Given the description of an element on the screen output the (x, y) to click on. 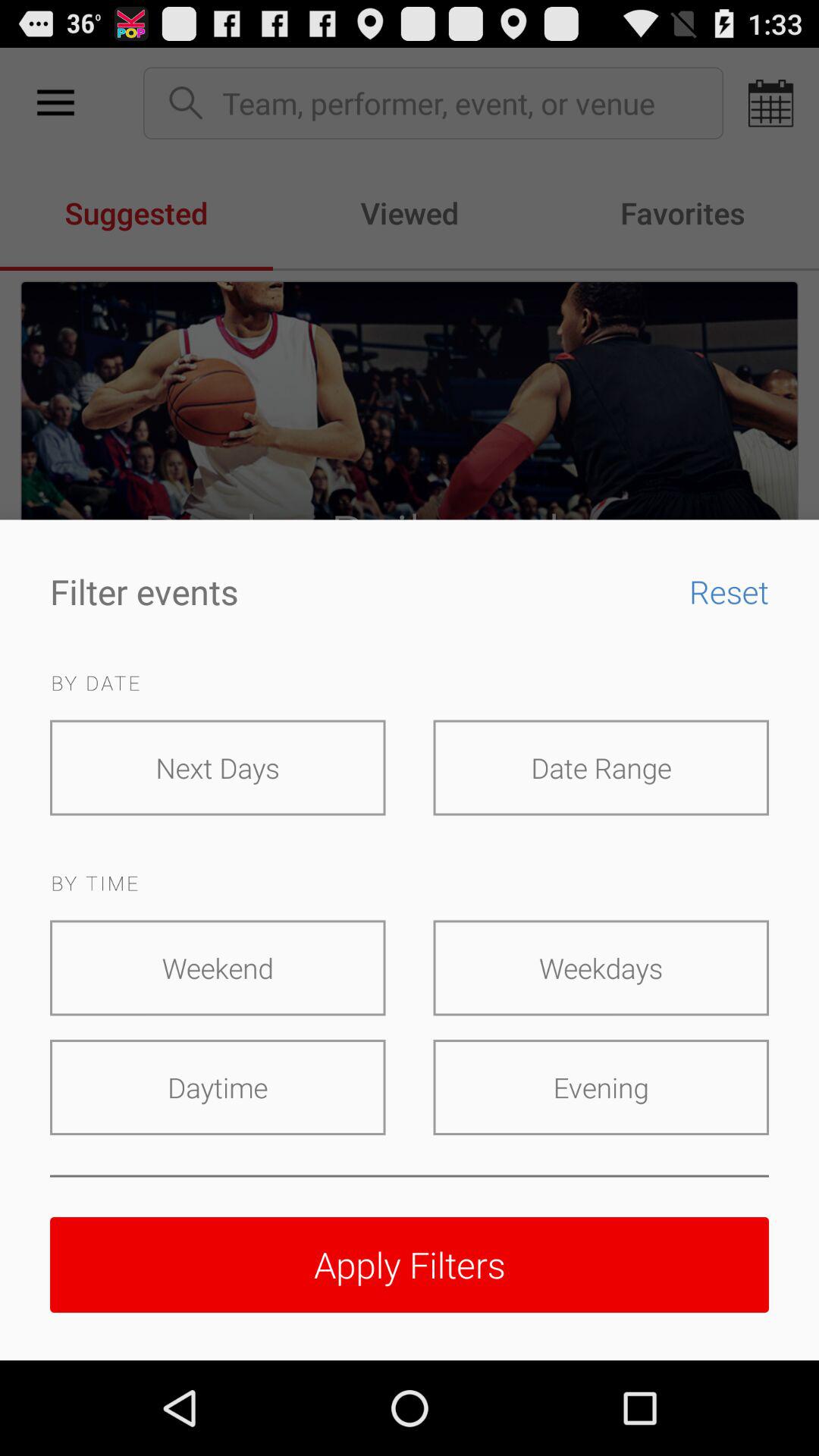
select reset item (716, 591)
